Given the description of an element on the screen output the (x, y) to click on. 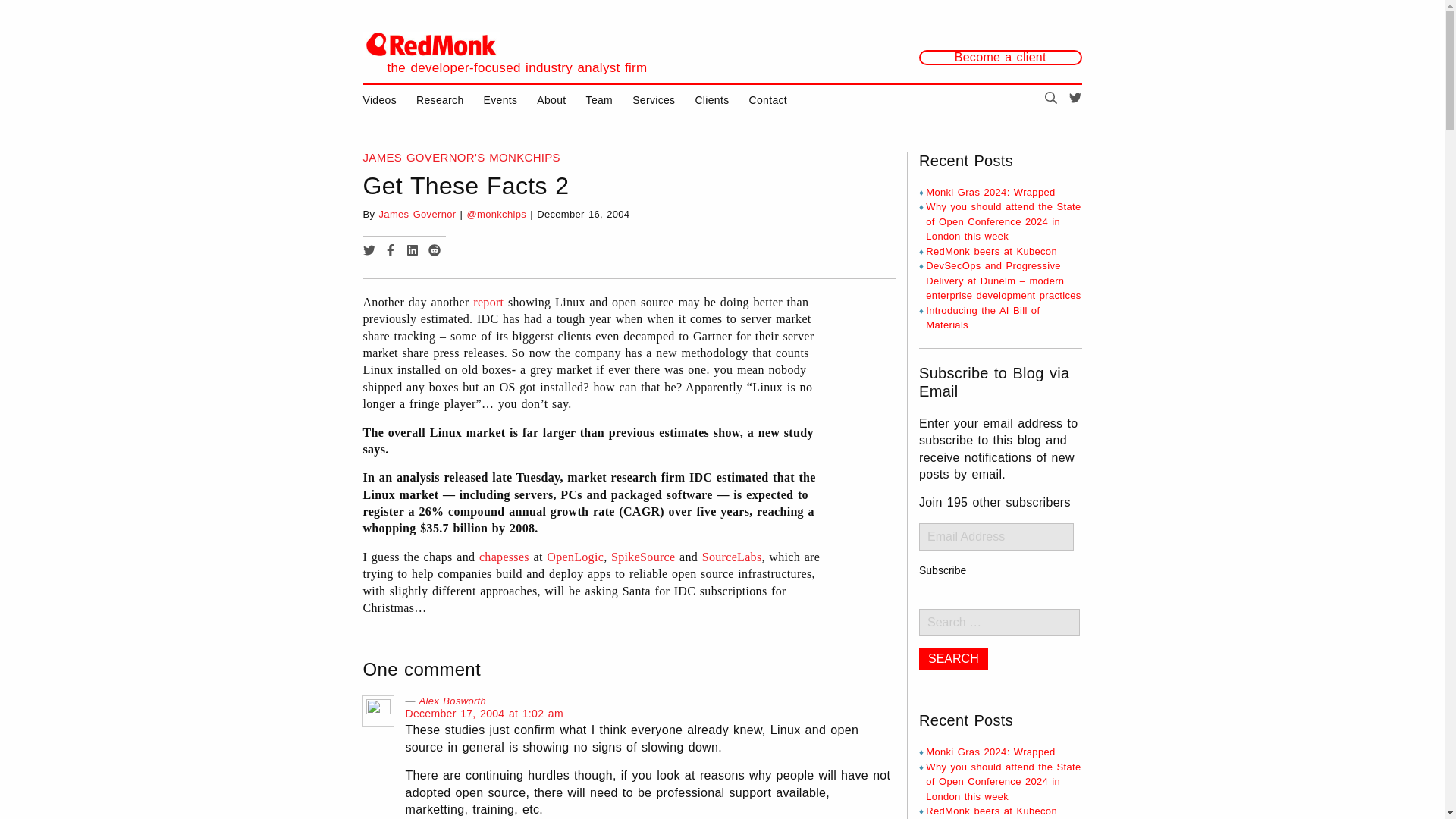
Team (599, 100)
report (488, 301)
Search (1051, 100)
About (551, 100)
RedMonk (430, 43)
Share via Reddit (434, 251)
Search (953, 658)
Search (953, 658)
OpenLogic (575, 556)
Videos (379, 100)
Share via Linkedin (412, 251)
Events (500, 100)
Services (653, 100)
JAMES GOVERNOR'S MONKCHIPS (460, 156)
